Given the description of an element on the screen output the (x, y) to click on. 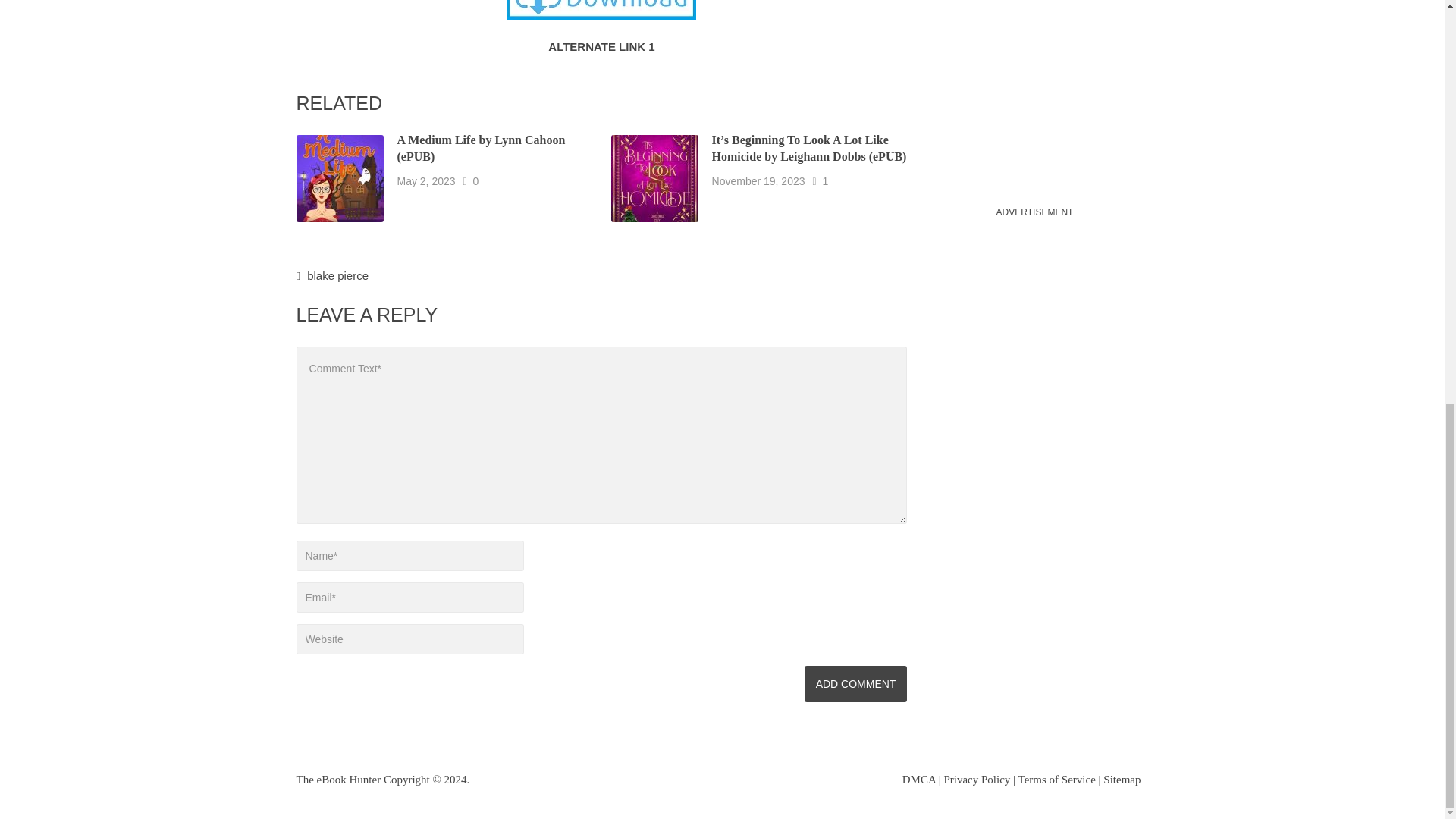
Add Comment (856, 683)
blake pierce (337, 275)
0 (475, 180)
Add Comment (856, 683)
1 (825, 180)
ALTERNATE LINK 1 (600, 46)
